Given the description of an element on the screen output the (x, y) to click on. 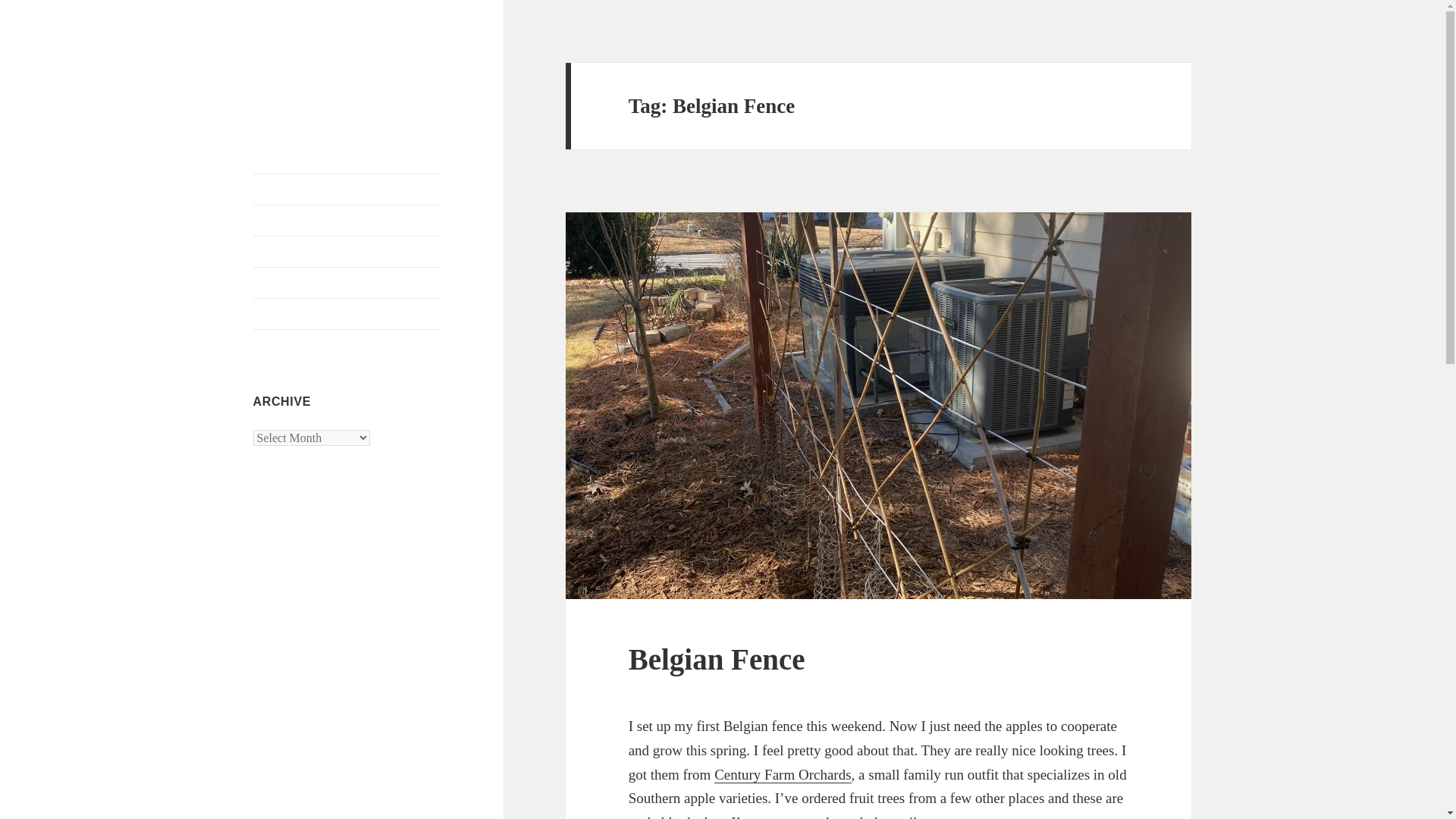
Century Farm Orchards (782, 773)
The Site (347, 282)
The Quarter Acre (336, 74)
Wild Stuff (347, 251)
About (347, 313)
Home (347, 189)
Belgian Fence (716, 658)
Fungi! (347, 220)
